Given the description of an element on the screen output the (x, y) to click on. 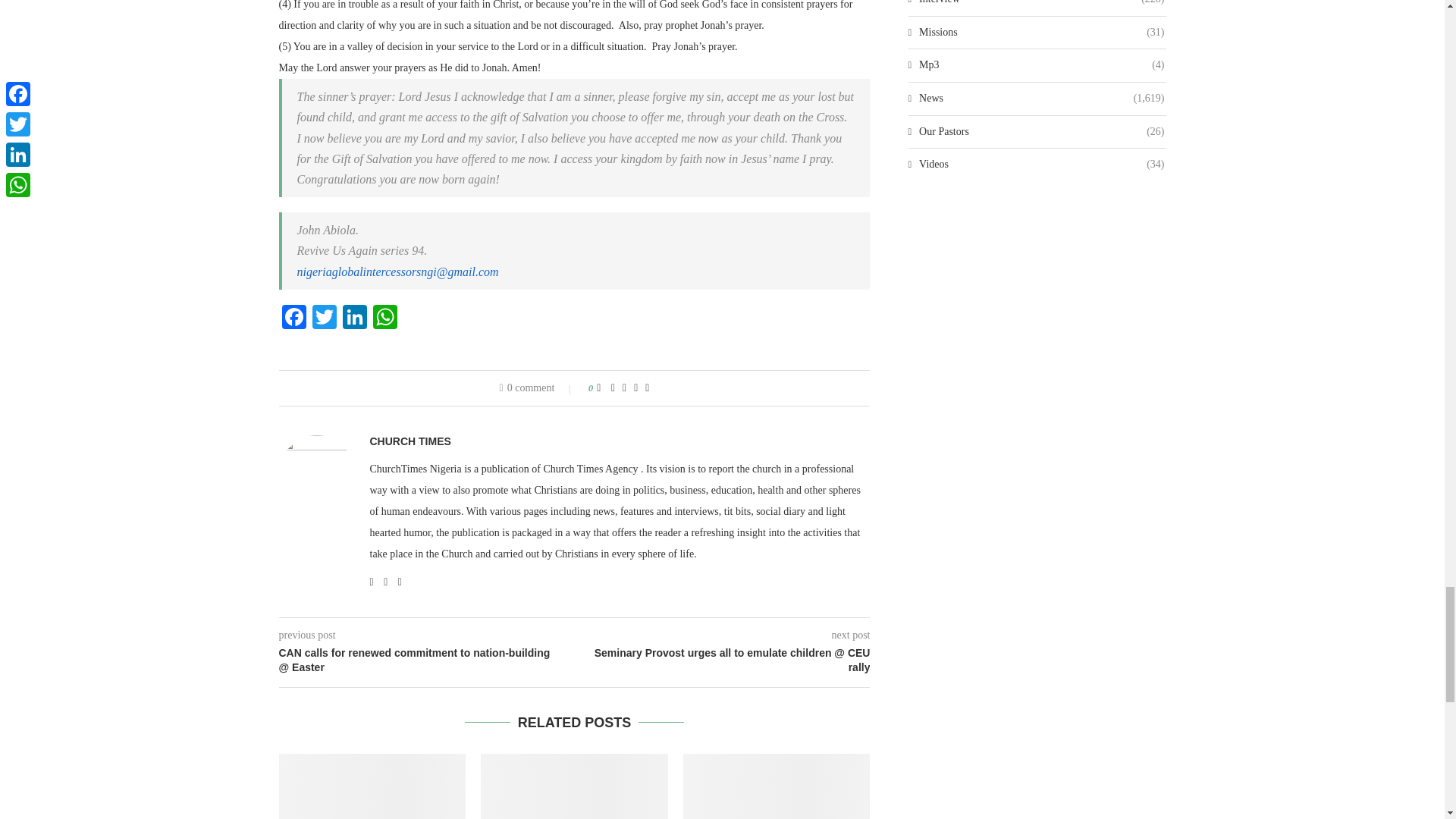
Twitter (323, 318)
The many platforms of leadership operations (574, 786)
LinkedIn (354, 318)
Protests and the need for daily intercession for Nigeria (776, 786)
Author Church Times (410, 440)
Facebook (293, 318)
WhatsApp (384, 318)
